Given the description of an element on the screen output the (x, y) to click on. 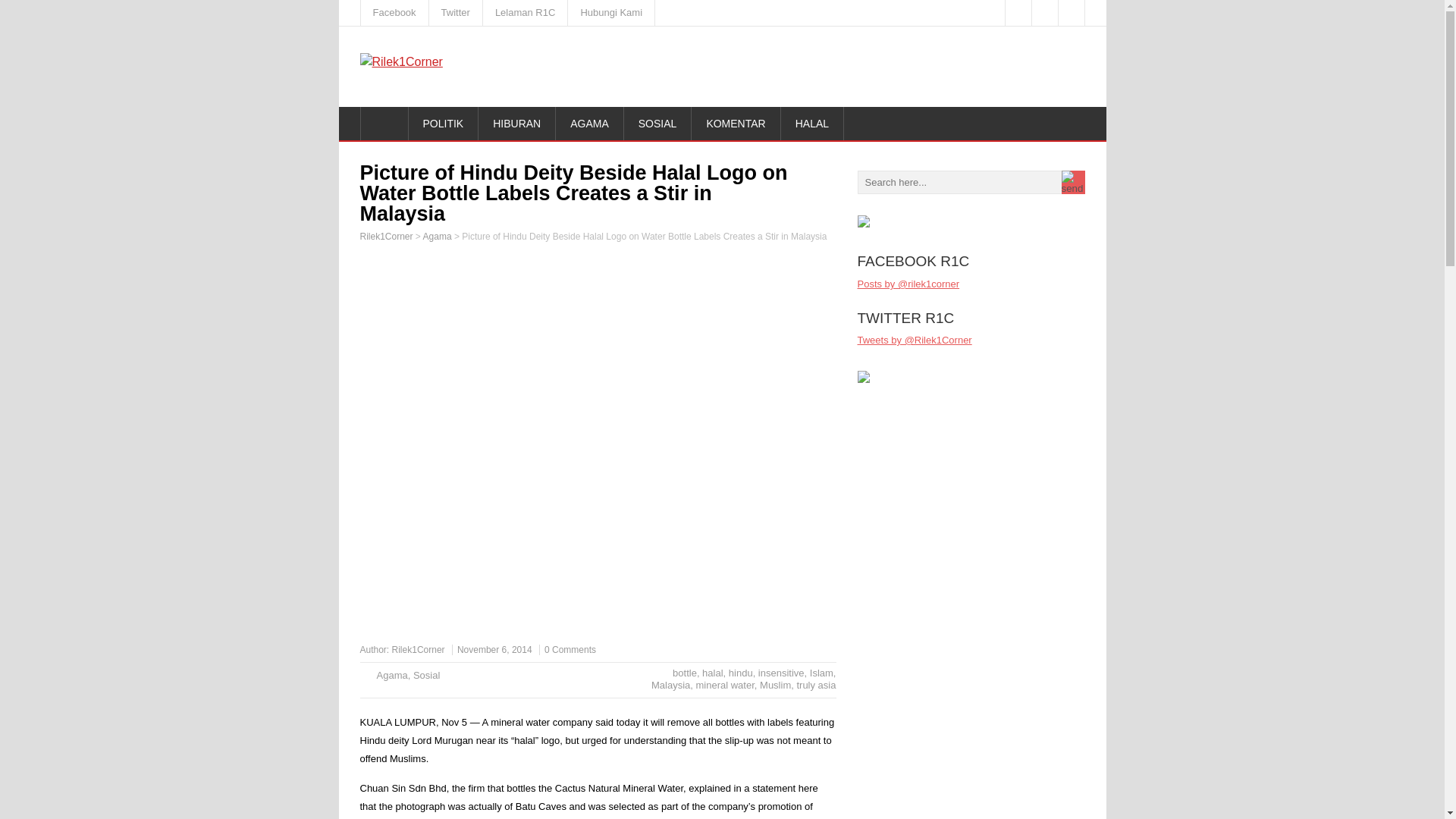
SOSIAL (658, 123)
HIBURAN (517, 123)
Muslim (775, 685)
KOMENTAR (735, 123)
Facebook (395, 12)
bottle (684, 672)
Rilek1Corner (385, 235)
0 Comments (569, 649)
Sosial (426, 674)
POLITIK (443, 123)
Twitter (456, 12)
Go to Rilek1Corner. (385, 235)
insensitive (781, 672)
Agama (391, 674)
Rilek1Corner (418, 649)
